Given the description of an element on the screen output the (x, y) to click on. 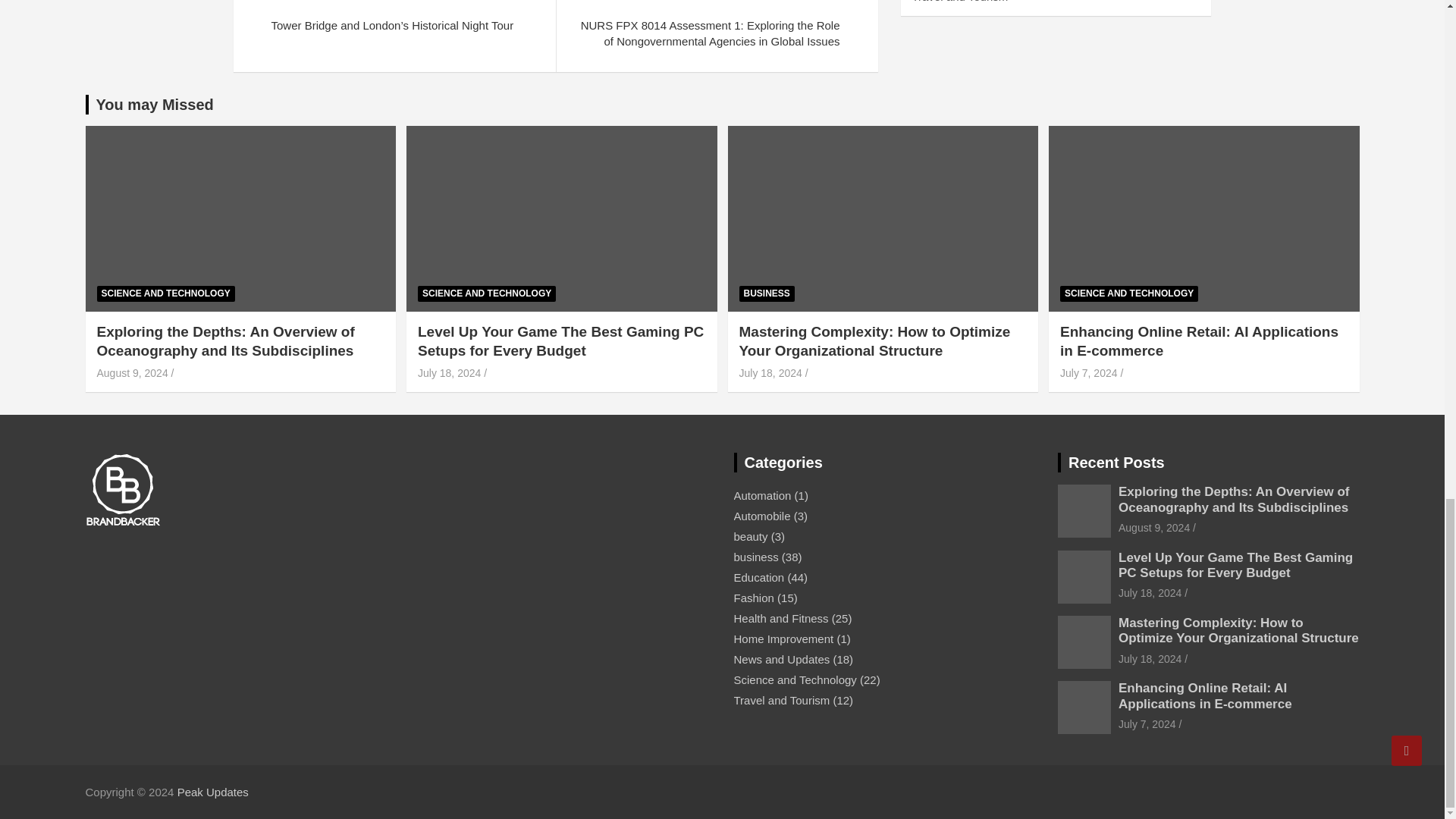
Enhancing Online Retail: AI Applications in E-commerce (1147, 724)
Peak Updates (212, 791)
BrandBacker Member (122, 490)
Enhancing Online Retail: AI Applications in E-commerce (1088, 372)
